Given the description of an element on the screen output the (x, y) to click on. 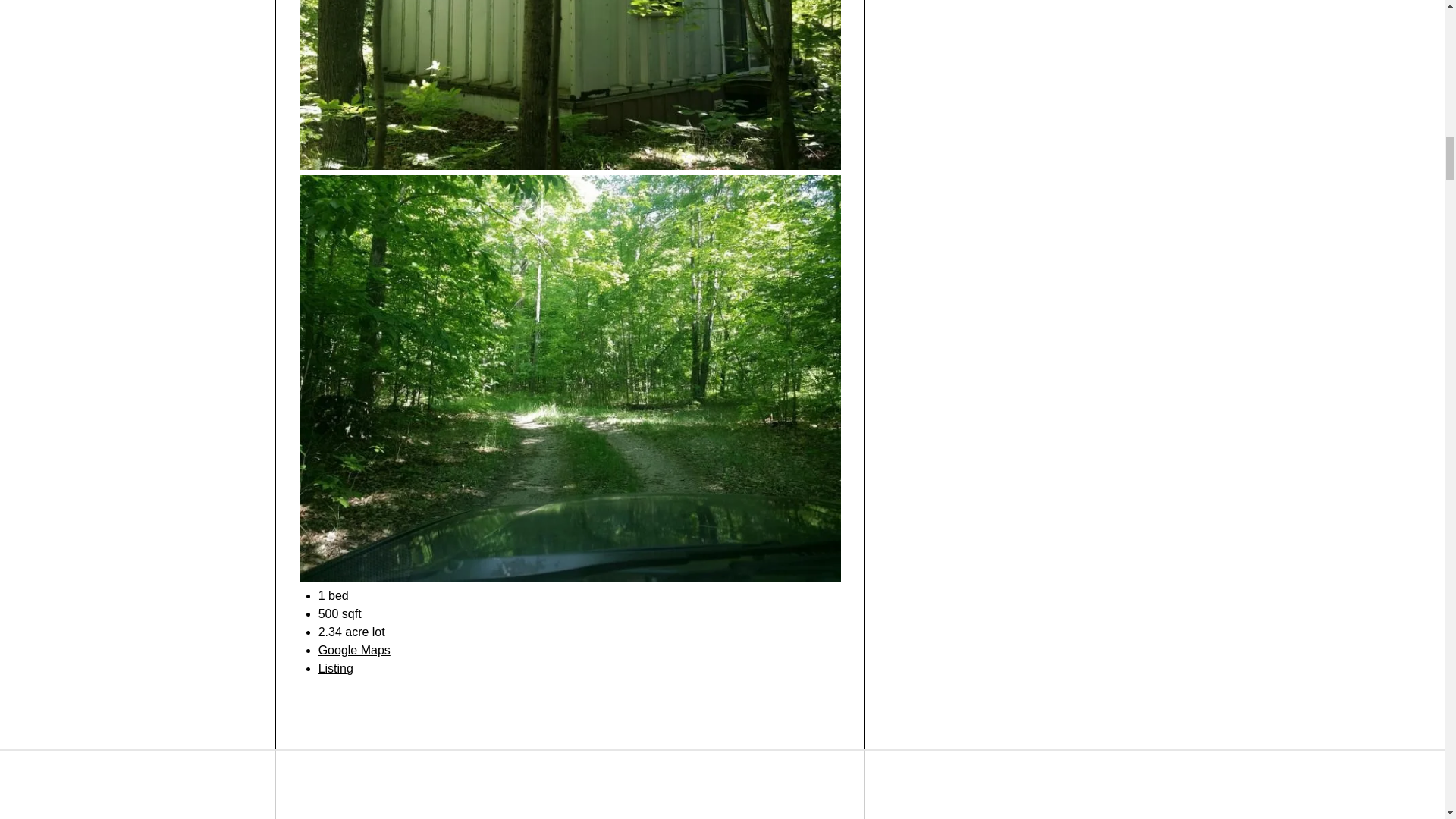
Google Maps (354, 649)
Listing (335, 667)
